Given the description of an element on the screen output the (x, y) to click on. 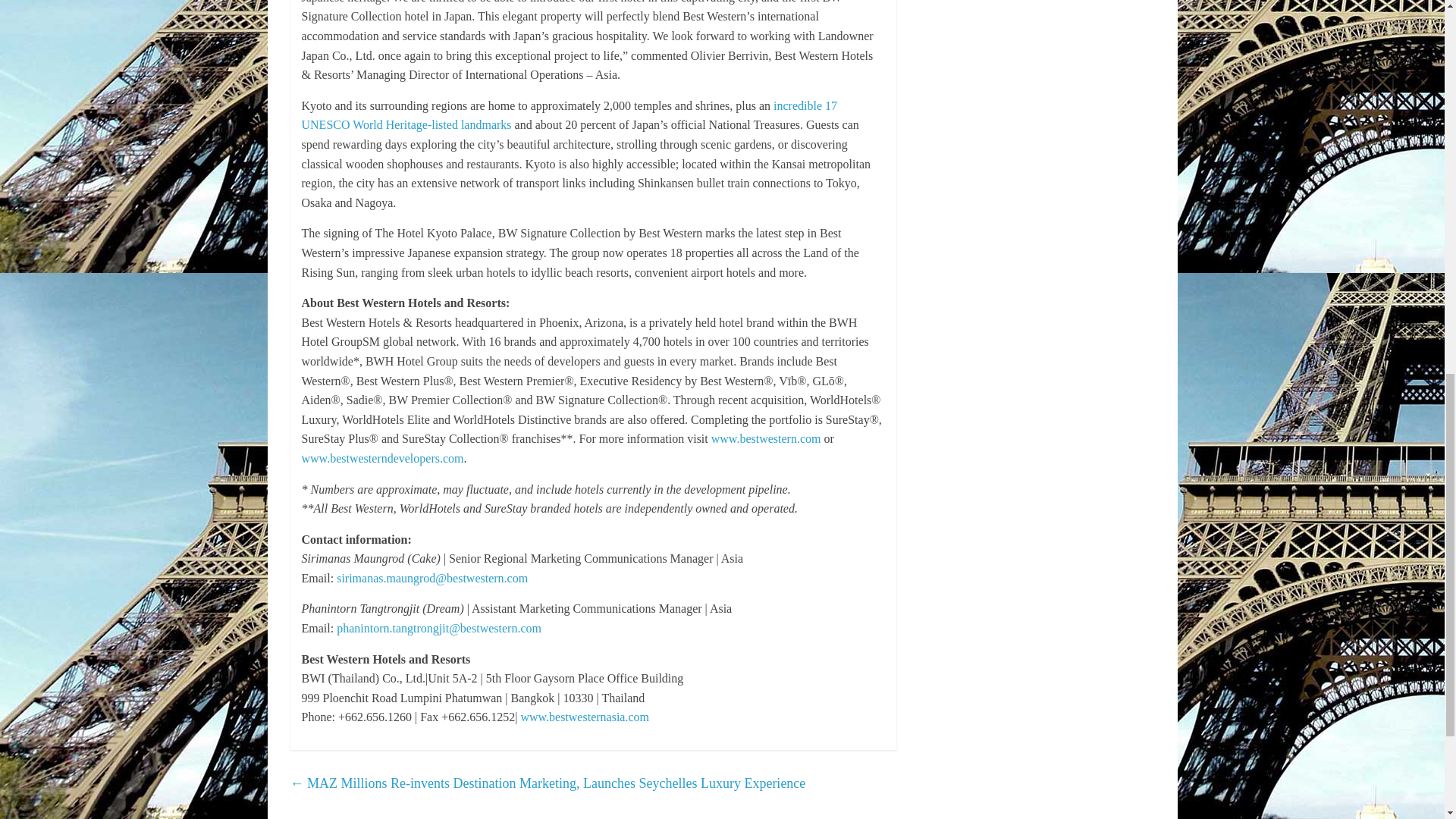
www.bestwestern.com (766, 438)
www.bestwesternasia.com (584, 716)
incredible 17 UNESCO World Heritage-listed landmarks (569, 115)
www.bestwesterndevelopers.com (382, 458)
